Given the description of an element on the screen output the (x, y) to click on. 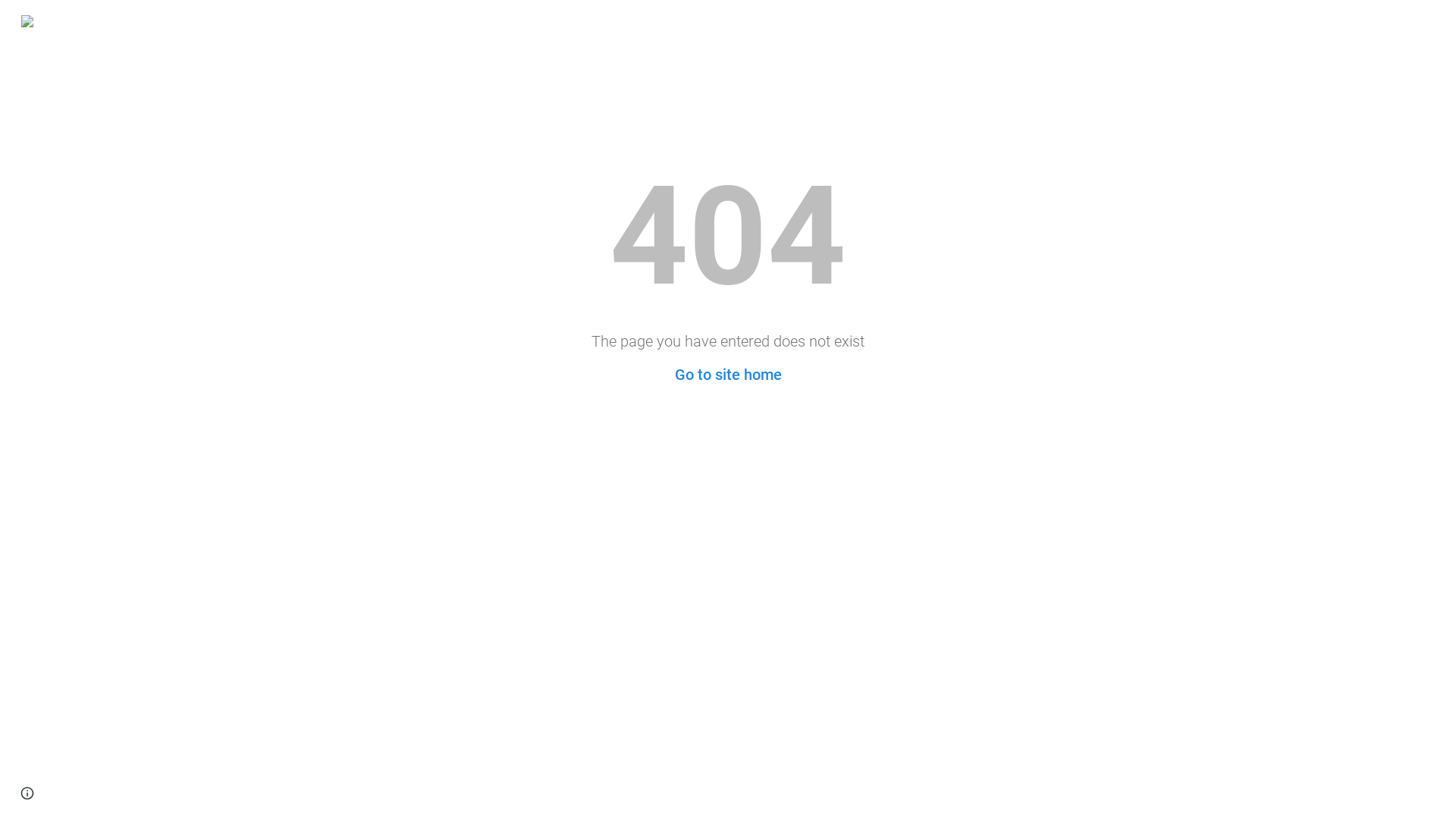
Go to site home Element type: text (727, 374)
